Given the description of an element on the screen output the (x, y) to click on. 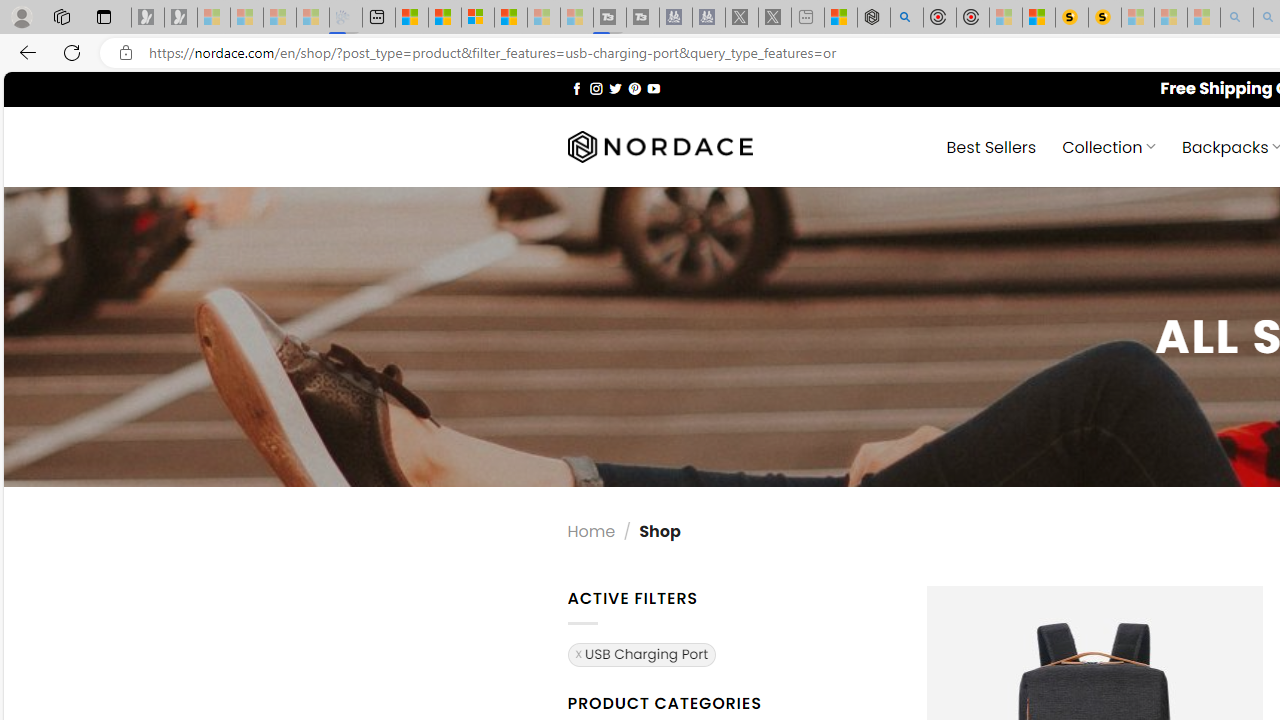
X - Sleeping (775, 17)
Follow on YouTube (653, 88)
Nordace (659, 147)
Wildlife - MSN (841, 17)
Remove filter (641, 654)
Follow on Instagram (596, 88)
New tab - Sleeping (808, 17)
xUSB Charging Port (641, 653)
Tab actions menu (104, 16)
amazon - Search - Sleeping (1237, 17)
